Given the description of an element on the screen output the (x, y) to click on. 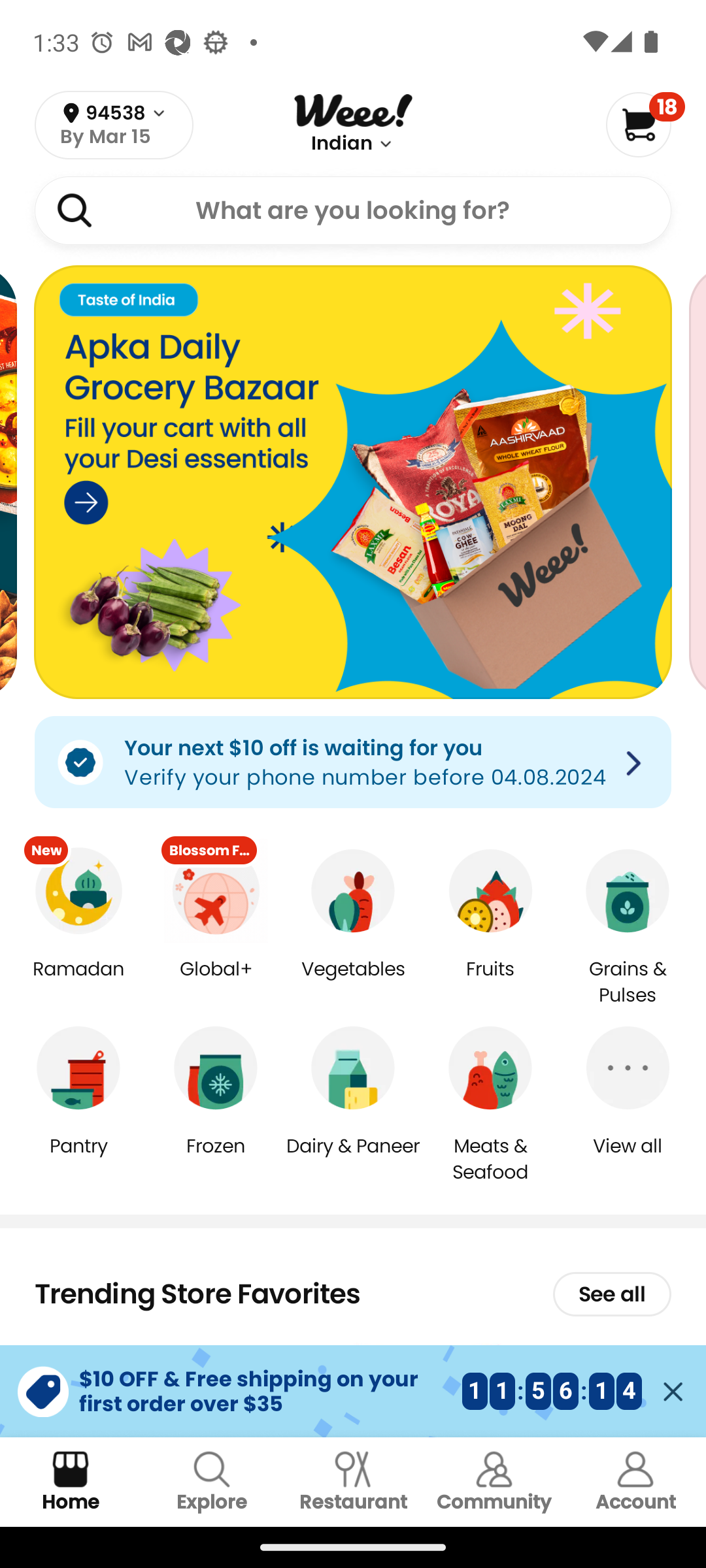
94538 By Mar 15 (113, 124)
18 (644, 124)
Indian (341, 143)
What are you looking for? (352, 209)
Ramadan (77, 982)
Global+ (215, 982)
Vegetables (352, 982)
Fruits (490, 982)
Grains & Pulses (627, 982)
Pantry (77, 1159)
Frozen (215, 1159)
Dairy & Paneer (352, 1159)
Meats & Seafood (490, 1158)
View all (627, 1159)
Home (70, 1482)
Explore (211, 1482)
Restaurant (352, 1482)
Community (493, 1482)
Account (635, 1482)
